Given the description of an element on the screen output the (x, y) to click on. 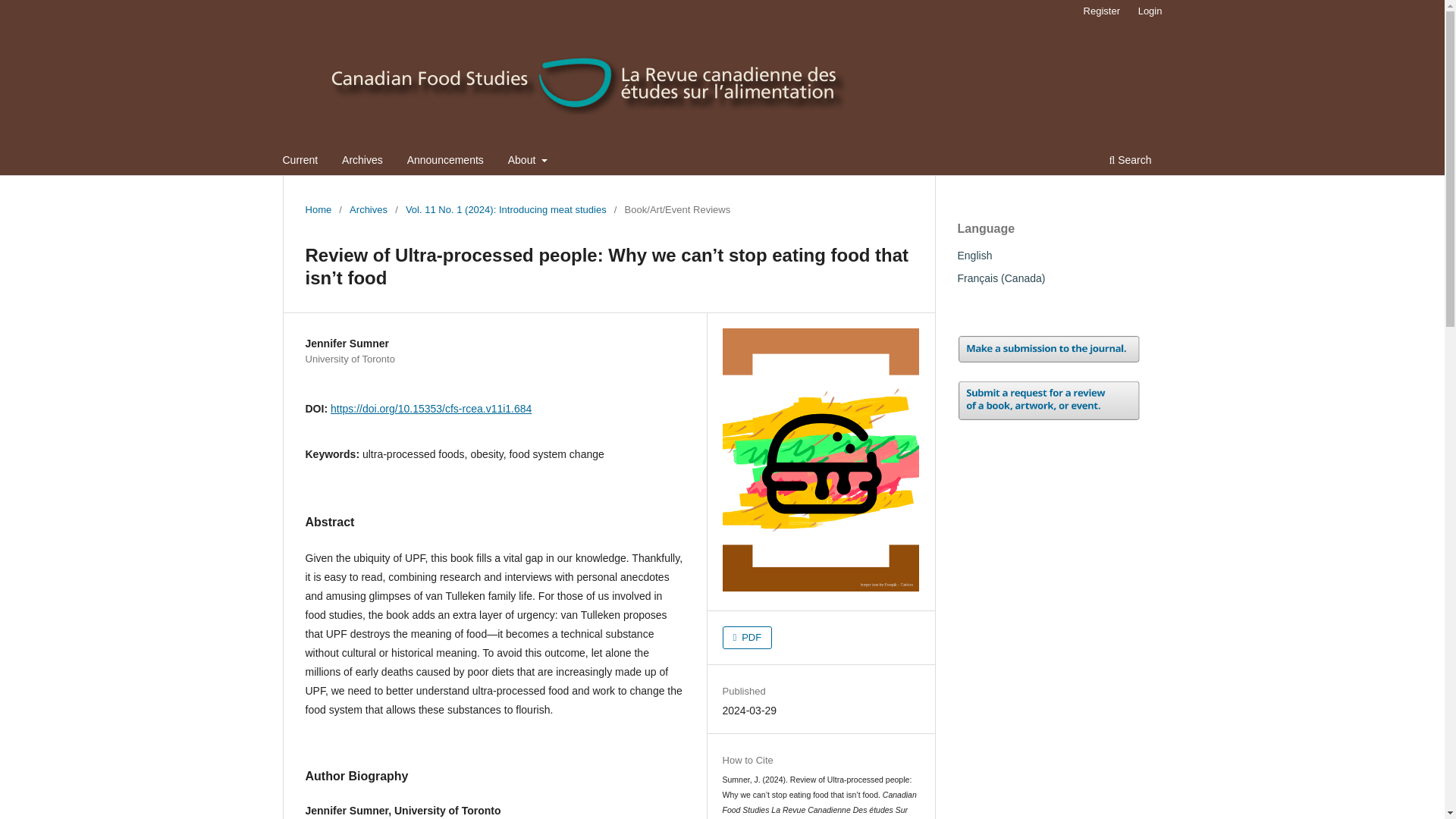
Announcements (445, 161)
Login (1150, 11)
Archives (362, 161)
Archives (368, 209)
PDF (747, 637)
Search (1129, 161)
Home (317, 209)
Register (1100, 11)
About (527, 161)
Current (300, 161)
